Given the description of an element on the screen output the (x, y) to click on. 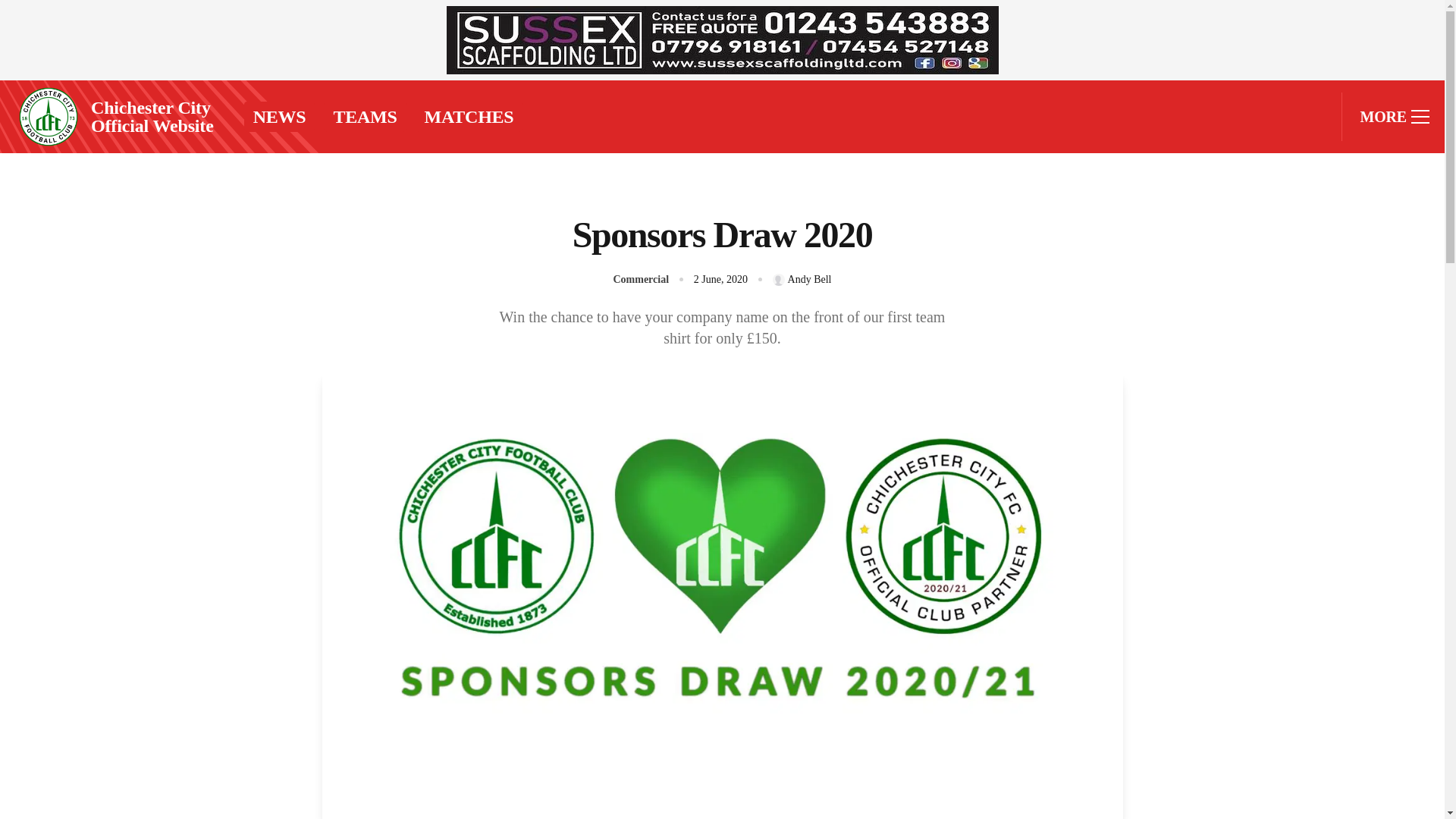
NEWS (279, 116)
TEAMS (364, 116)
MATCHES (468, 116)
